Given the description of an element on the screen output the (x, y) to click on. 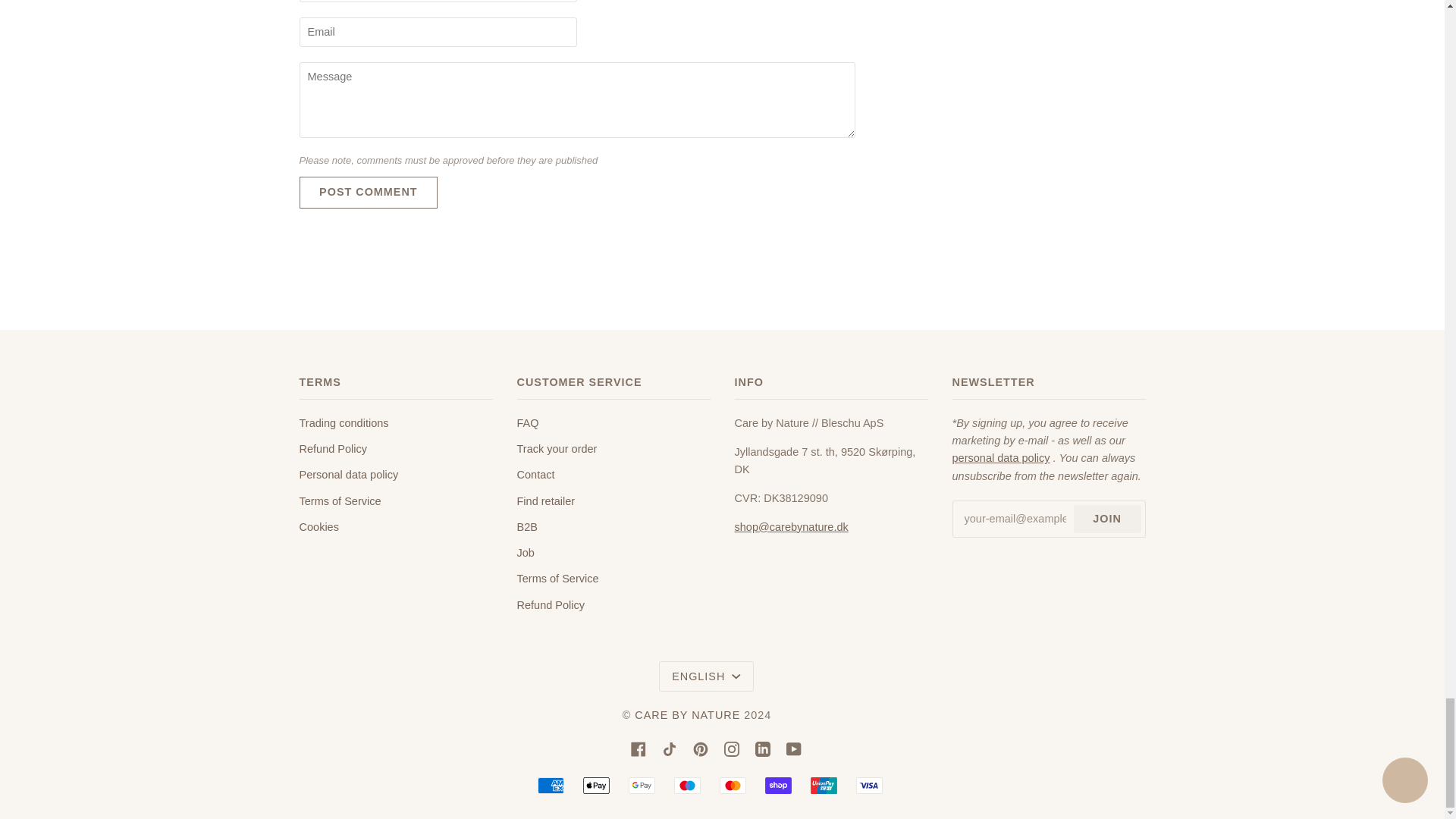
Facebook (638, 747)
MAESTRO (687, 785)
AMERICAN EXPRESS (550, 785)
UNION PAY (823, 785)
GOOGLE PAY (641, 785)
Tiktok (669, 747)
Privacy Policy (1000, 458)
YouTube (794, 747)
APPLE PAY (596, 785)
SHOP PAY (778, 785)
